Given the description of an element on the screen output the (x, y) to click on. 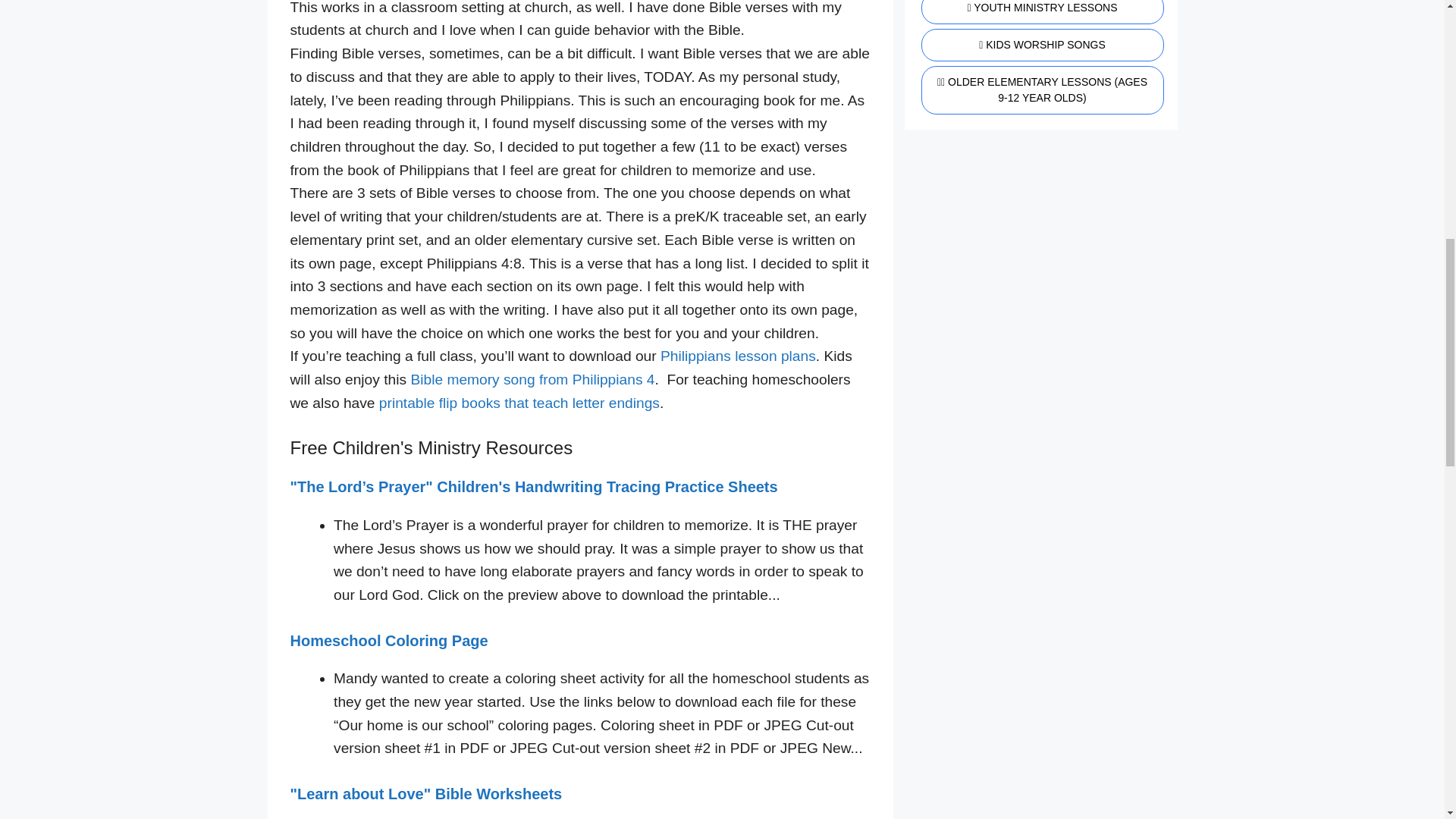
Homeschool Coloring Page (388, 640)
Philippians lesson plans (738, 355)
Homeschool Coloring Page (388, 640)
"Learn about Love" Bible Worksheets (425, 793)
printable flip books that teach letter endings (518, 402)
"Learn about Love" Bible Worksheets (425, 793)
Bible memory song from Philippians 4 (531, 379)
